Given the description of an element on the screen output the (x, y) to click on. 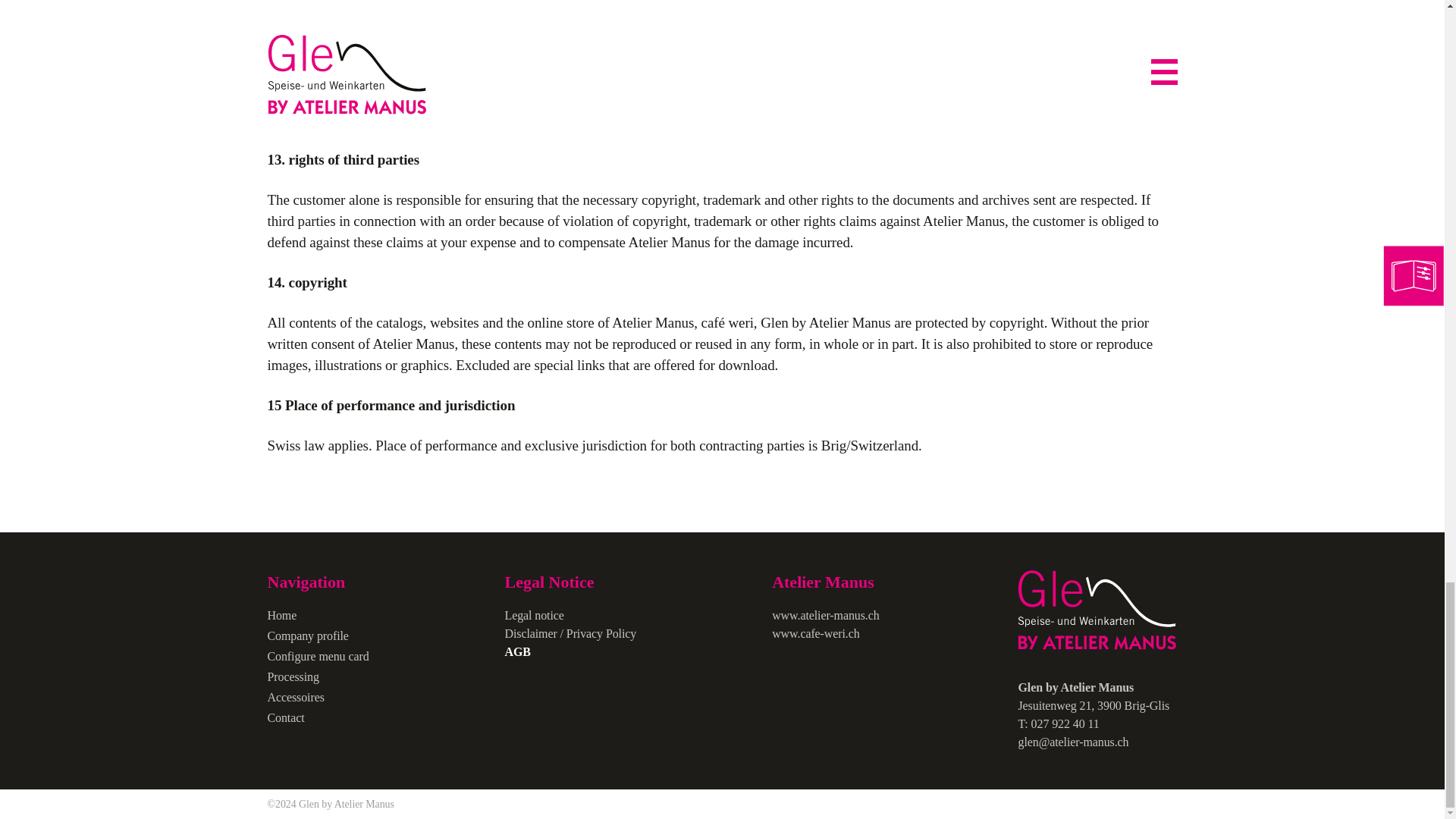
Legal Notice (571, 582)
Home (281, 615)
www.atelier-manus.ch (825, 615)
Accessoires (294, 697)
AGB (518, 651)
Contact (285, 717)
Company profile (306, 635)
Configure menu card (317, 656)
Processing (292, 676)
Legal notice (534, 615)
